Given the description of an element on the screen output the (x, y) to click on. 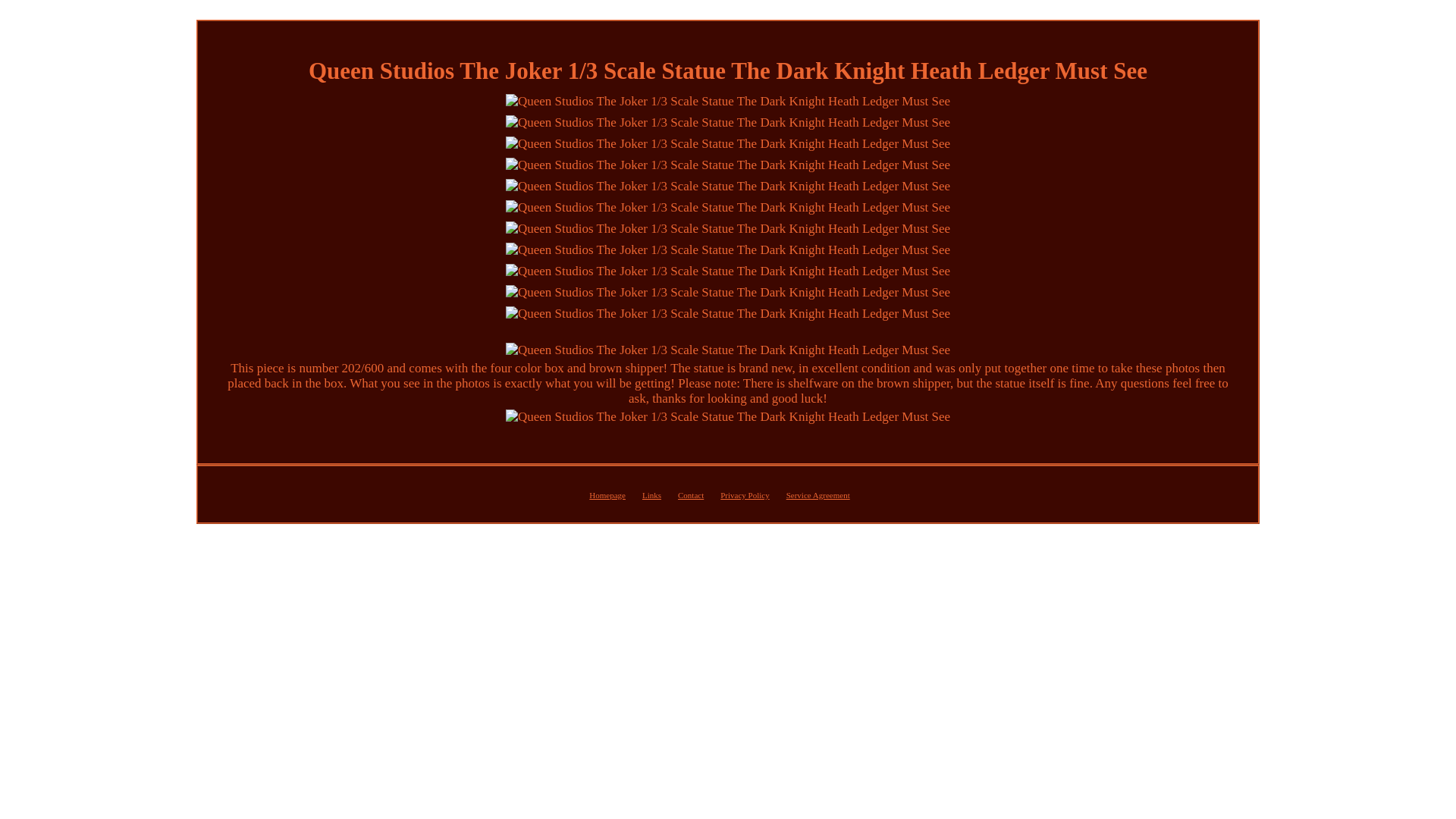
Links (651, 494)
Privacy Policy (744, 494)
Homepage (607, 494)
Service Agreement (818, 494)
Contact (690, 494)
